Given the description of an element on the screen output the (x, y) to click on. 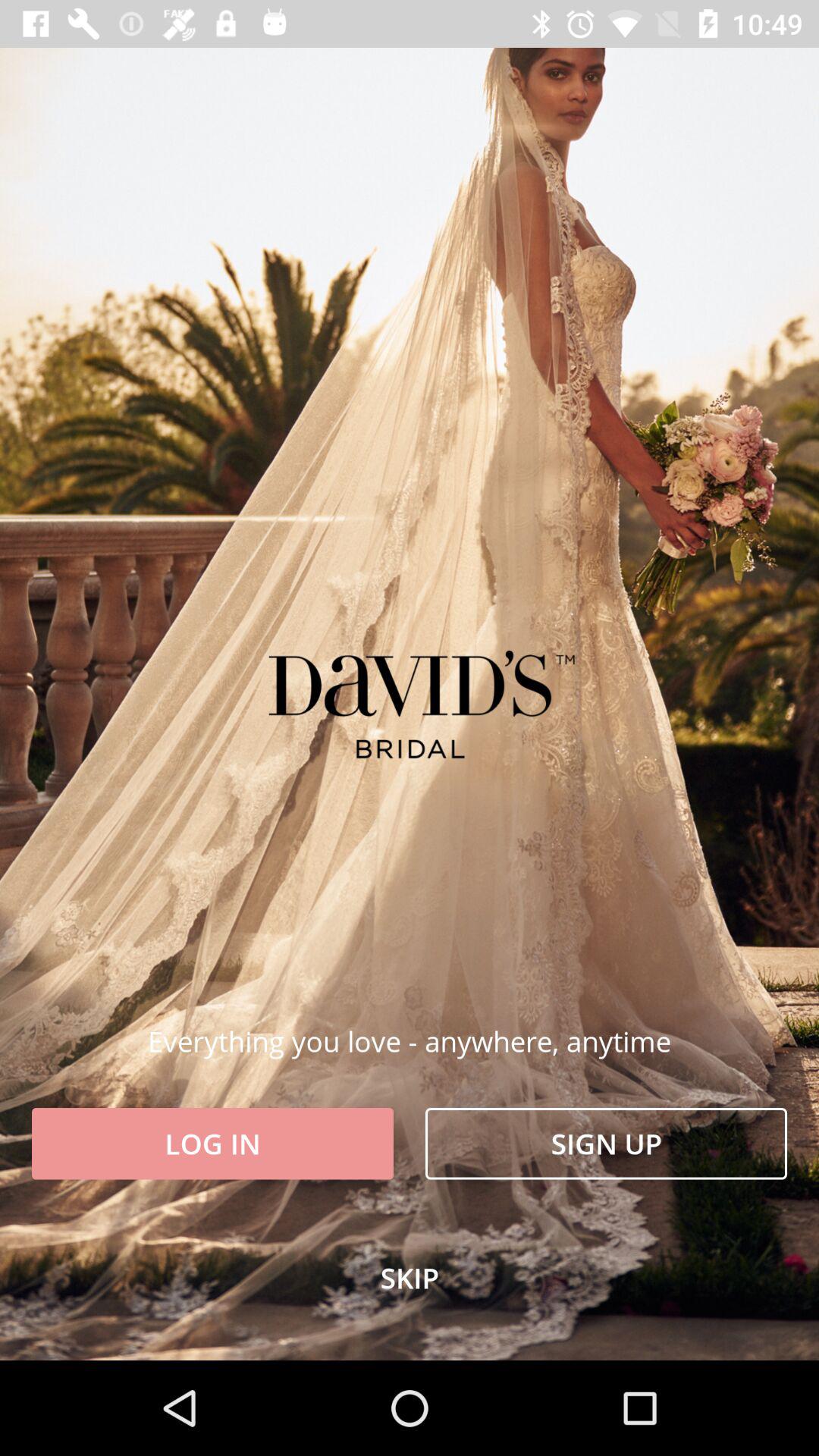
press the item at the bottom right corner (606, 1143)
